Given the description of an element on the screen output the (x, y) to click on. 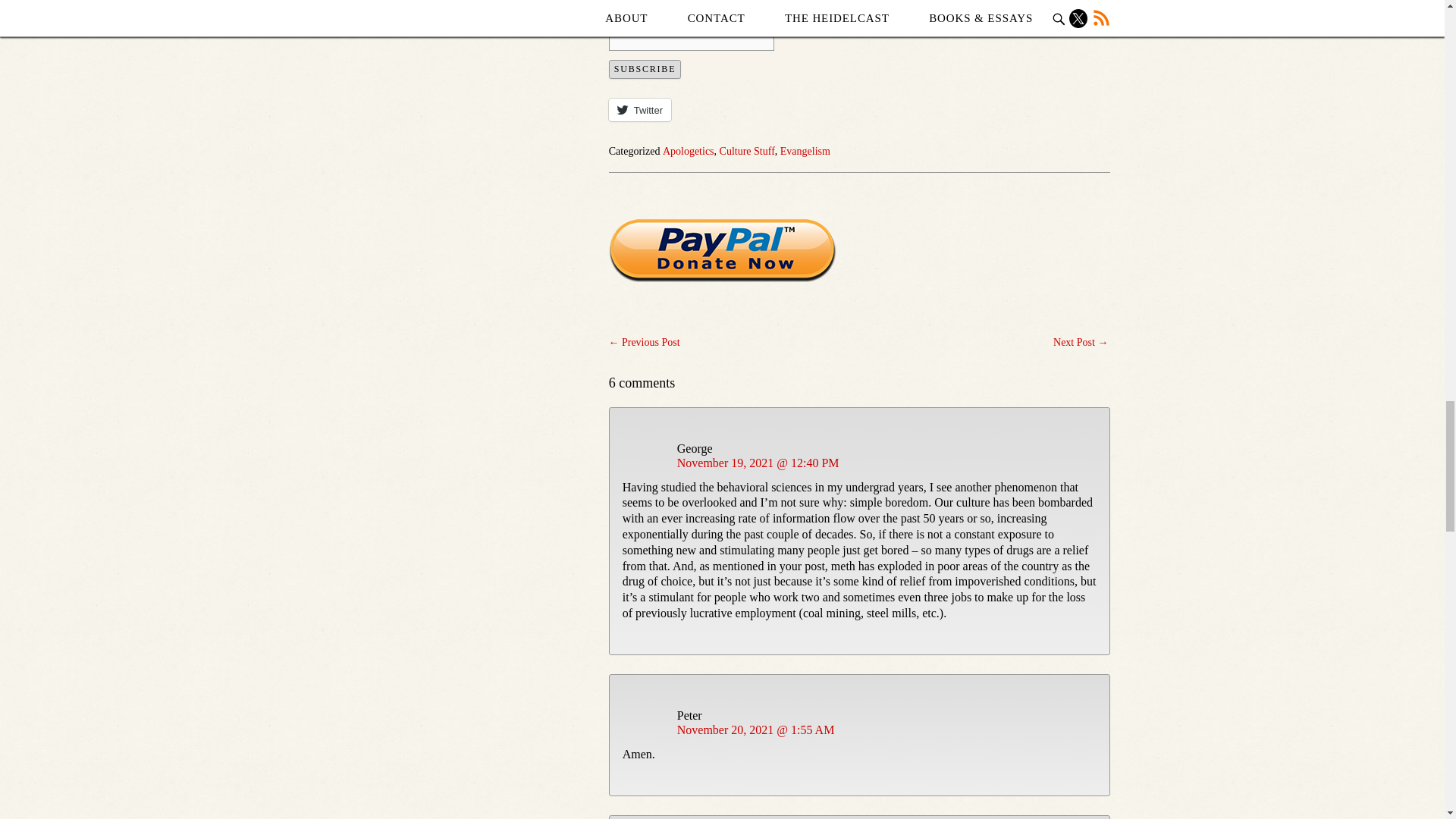
Support the Heidelblog! (721, 250)
Click to share on Twitter (639, 109)
Subscribe (644, 68)
Twitter (639, 109)
Subscribe (644, 68)
